Given the description of an element on the screen output the (x, y) to click on. 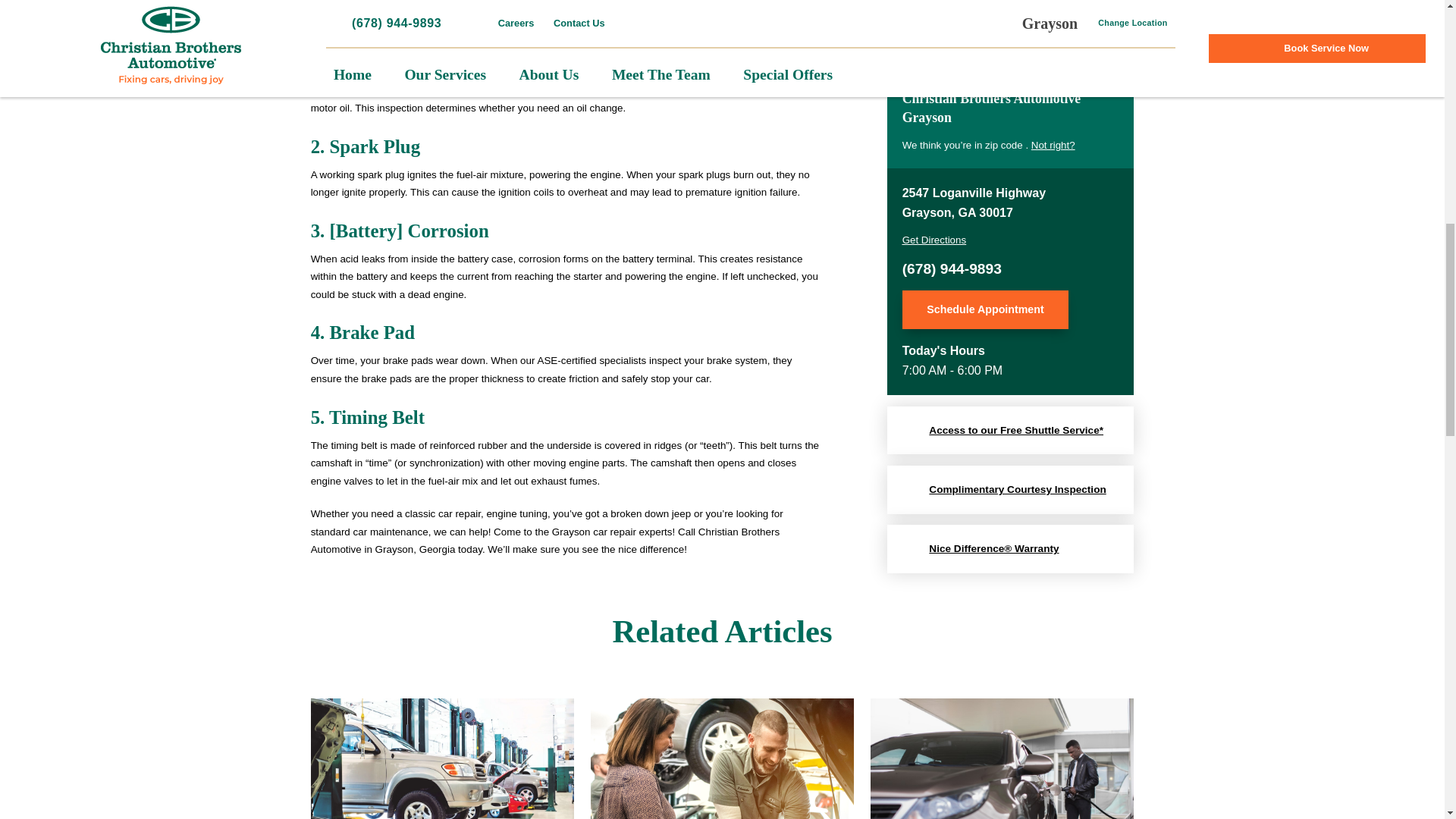
Four Common Services Offered at Auto Repair Centers (442, 758)
What is a Car Inspection? (722, 758)
Don't Top Off Your Gas Tank (1002, 758)
